Given the description of an element on the screen output the (x, y) to click on. 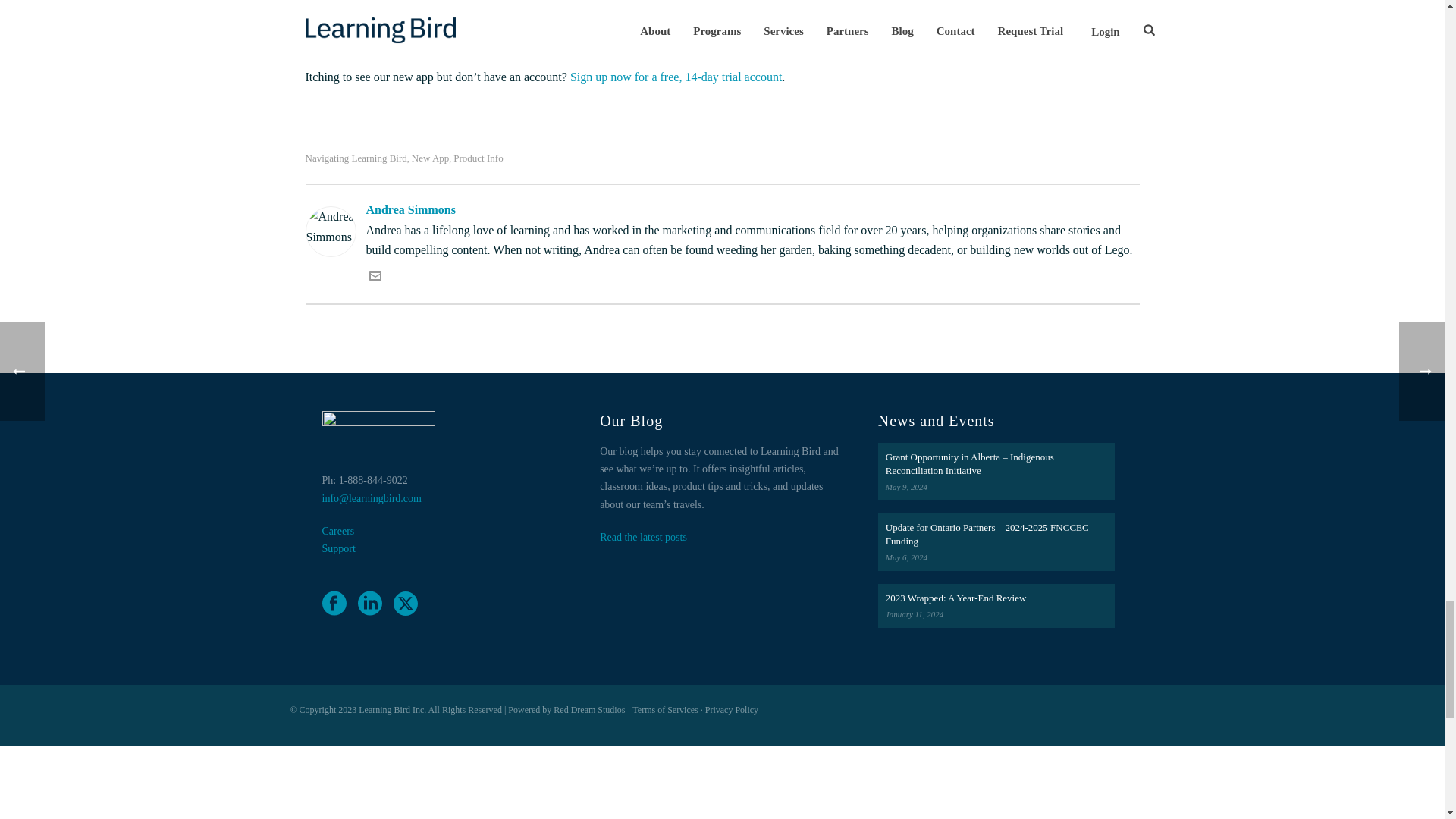
Follow Us on facebook (333, 604)
Get in touch with me via email (374, 277)
Follow Us on linkedin (369, 604)
Follow Us on twitter (404, 604)
